Given the description of an element on the screen output the (x, y) to click on. 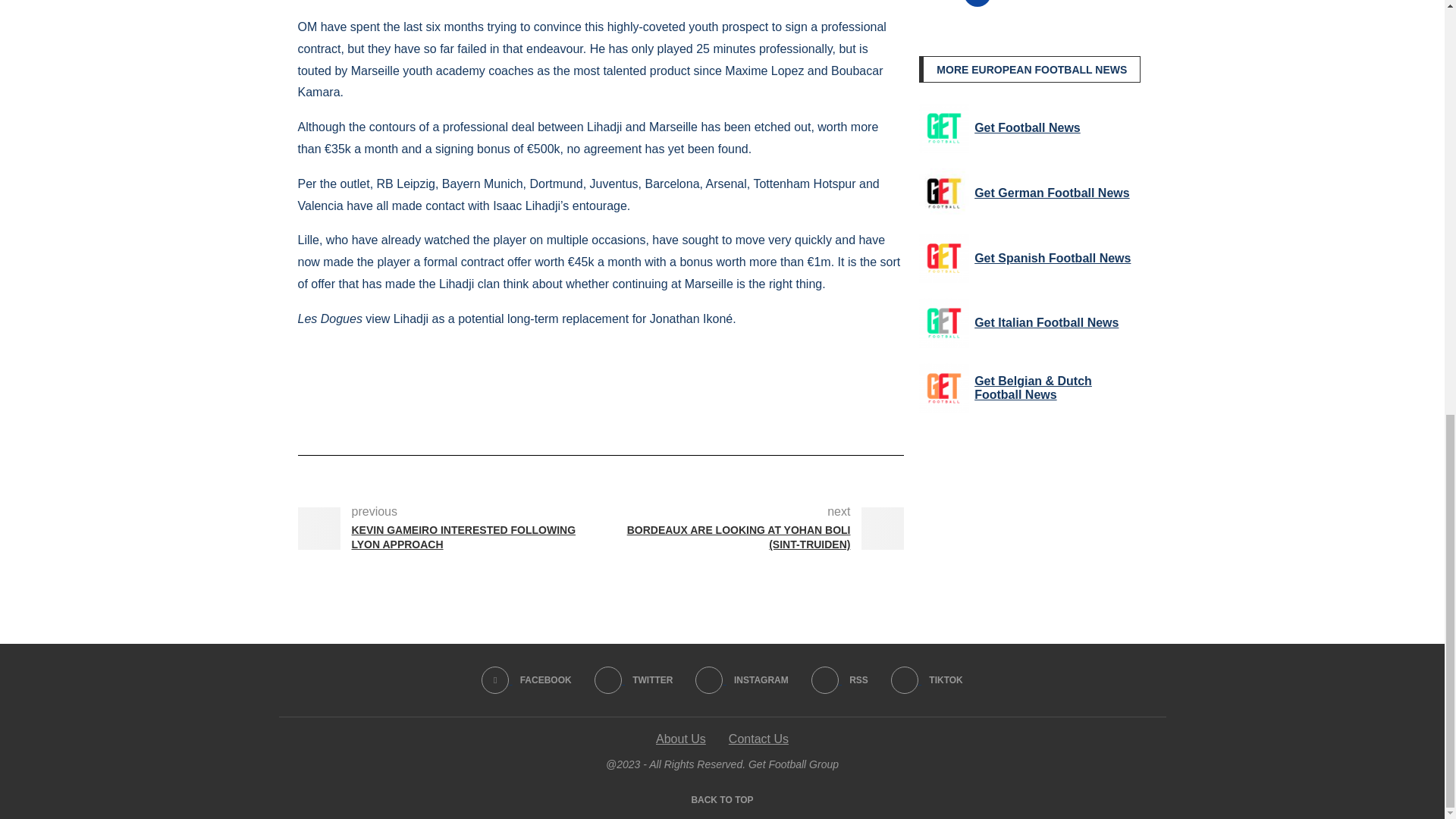
Get Football News (943, 128)
Get German Football News (943, 193)
Get Italian Football News (943, 323)
Get Spanish Football News (943, 258)
